Given the description of an element on the screen output the (x, y) to click on. 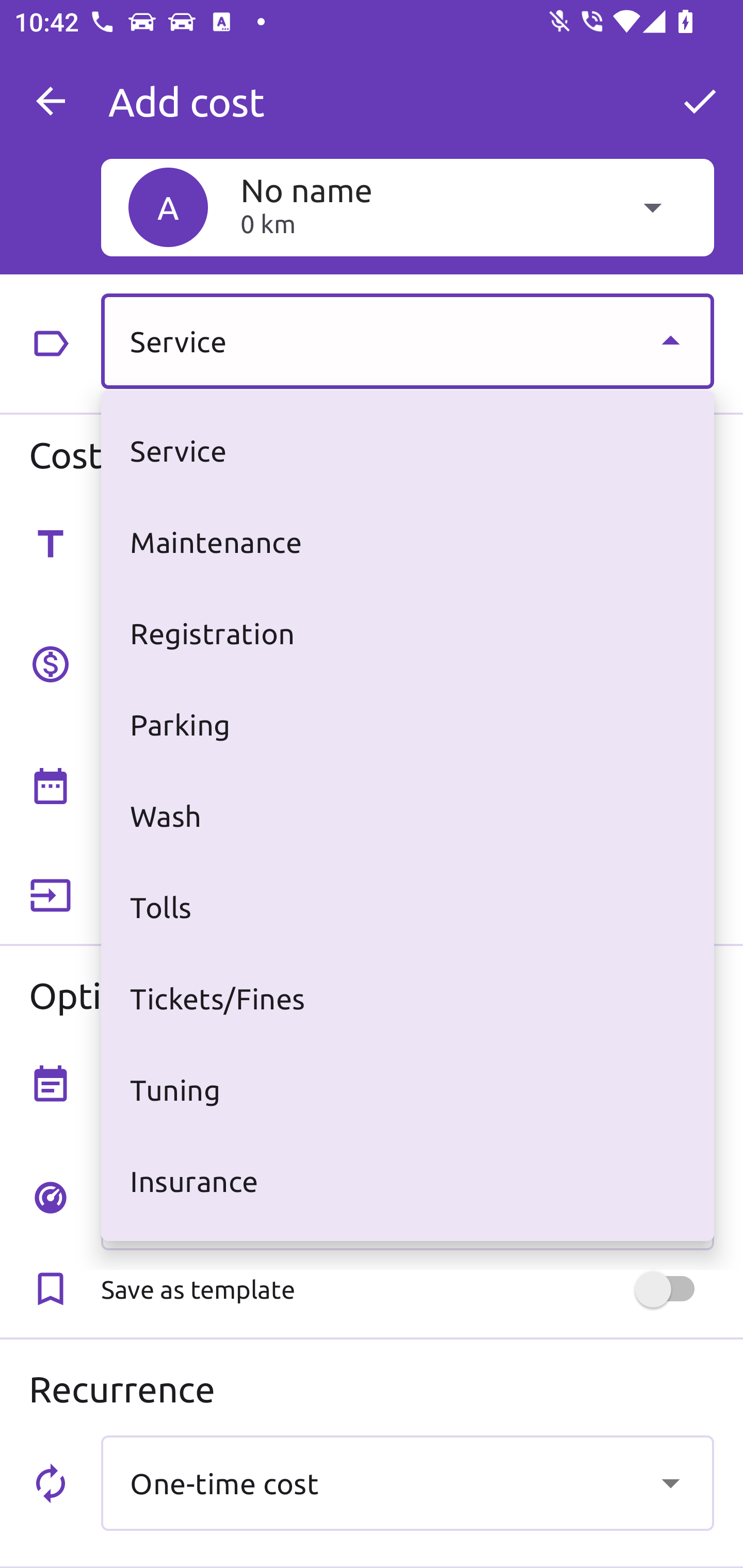
Navigate up (50, 101)
OK (699, 101)
A No name 0 km (407, 206)
Service (407, 340)
Show dropdown menu (670, 340)
Title (407, 541)
Total cost  (407, 662)
2024-03-07 (236, 790)
Negative cost (income) (407, 895)
Note (407, 1082)
Odometer (407, 1202)
Save as template (407, 1289)
One-time cost (407, 1482)
Show dropdown menu (670, 1482)
